Given the description of an element on the screen output the (x, y) to click on. 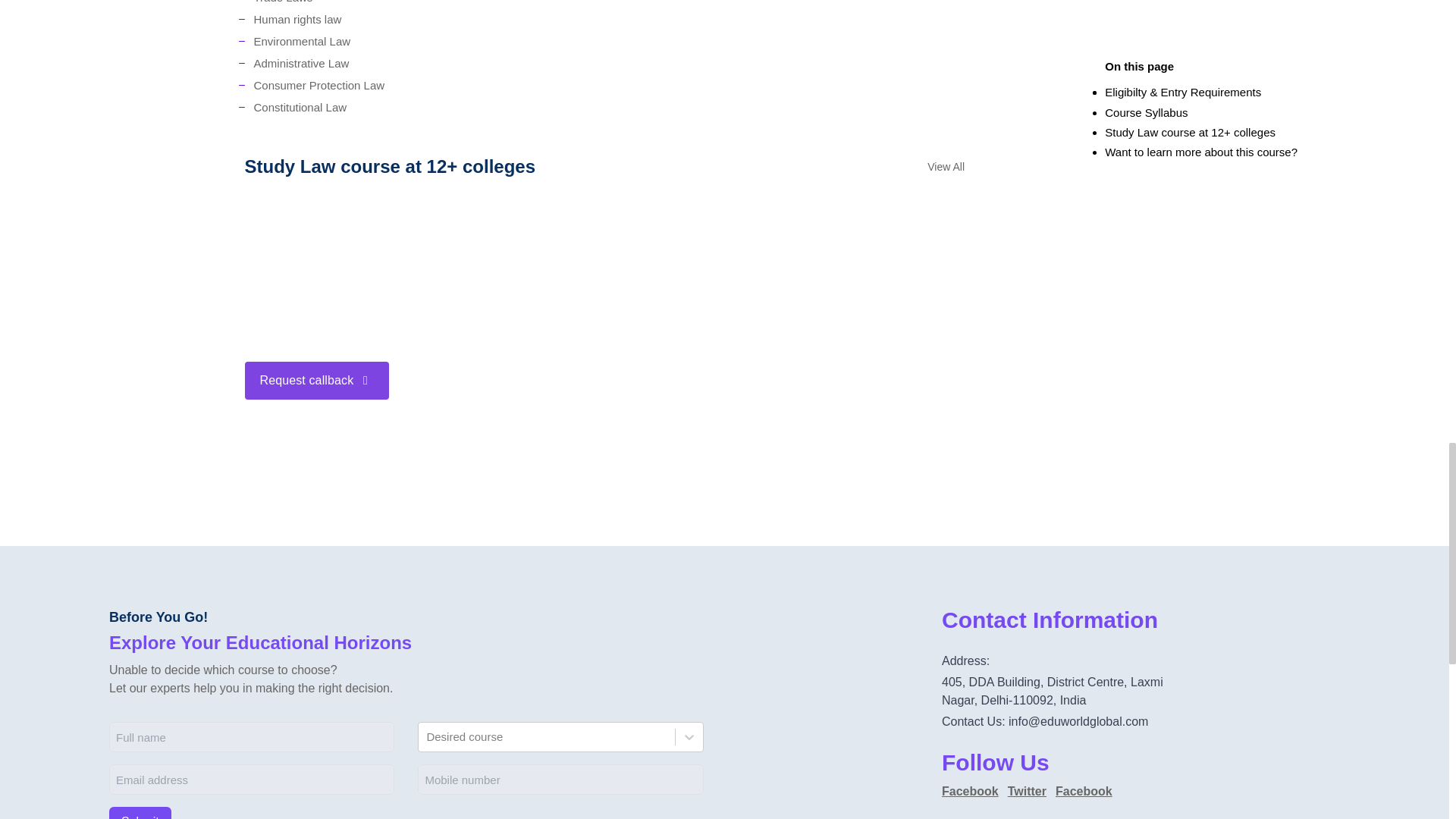
Facebook (1083, 791)
Submit (140, 812)
View All (945, 166)
Twitter (1026, 791)
Request callback (316, 380)
Facebook (970, 791)
